Given the description of an element on the screen output the (x, y) to click on. 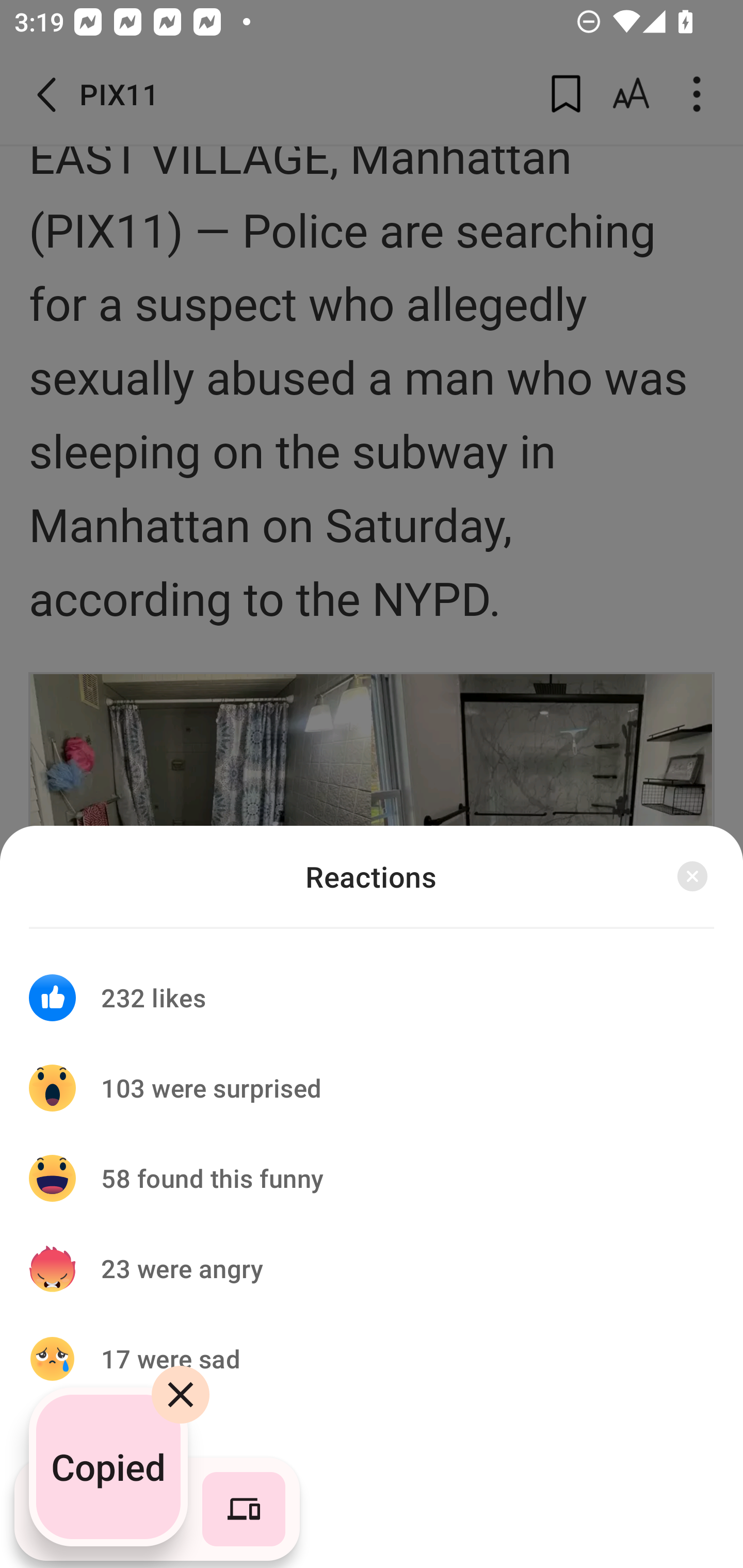
232 likes (371, 985)
103 were surprised (371, 1087)
58 found this funny (371, 1178)
23 were angry (371, 1268)
17 were sad (371, 1358)
